Given the description of an element on the screen output the (x, y) to click on. 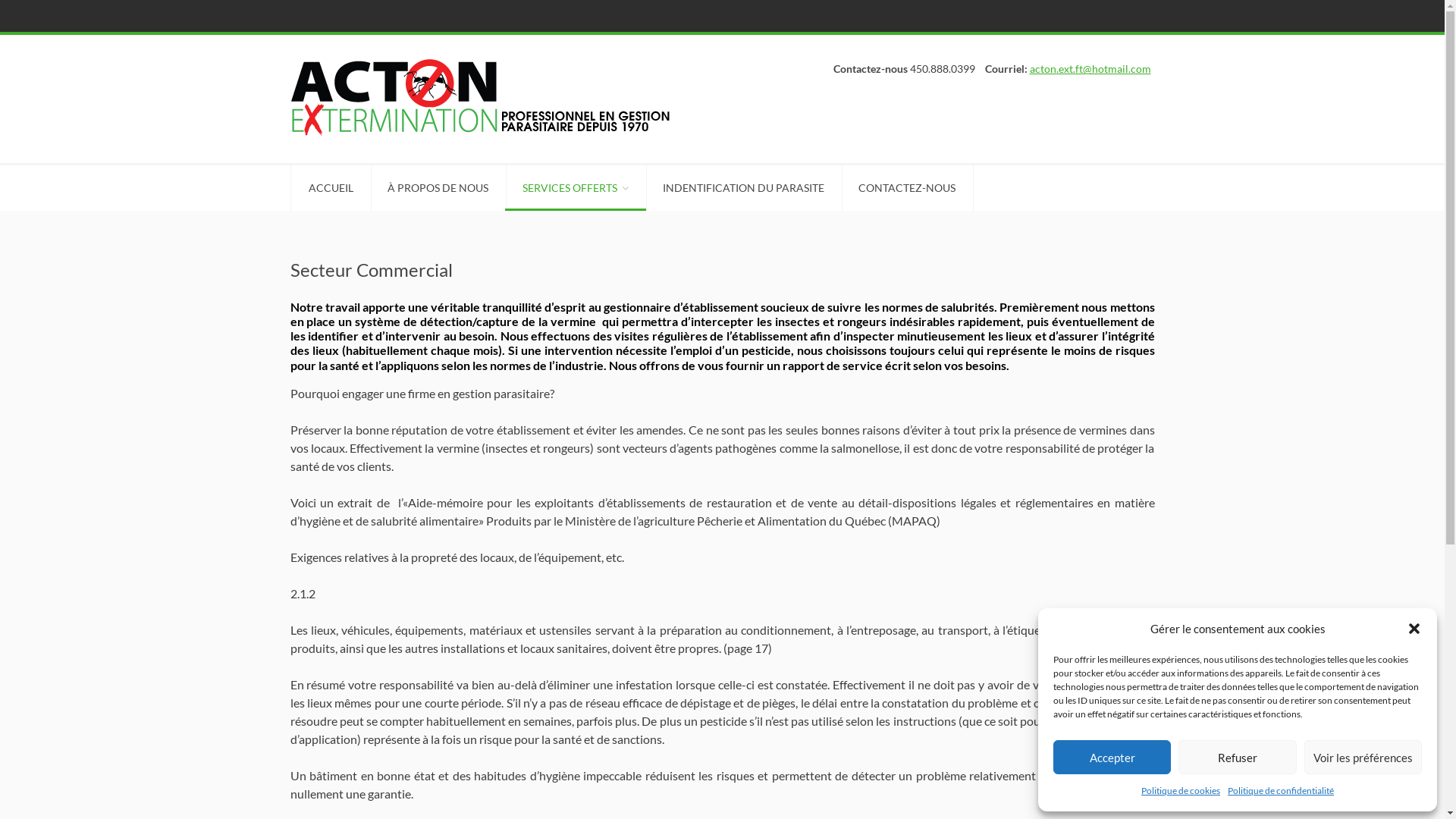
ACCUEIL Element type: text (329, 187)
Refuser Element type: text (1236, 757)
Politique de cookies Element type: text (1180, 790)
Accepter Element type: text (1111, 757)
SERVICES OFFERTS Element type: text (575, 187)
PROFESSIONNEL EN GESTION PARASITAIRE DEPUIS 1970 Element type: hover (482, 97)
acton.ext.ft@hotmail.com Element type: text (1090, 68)
CONTACTEZ-NOUS Element type: text (906, 187)
INDENTIFICATION DU PARASITE Element type: text (742, 187)
